Given the description of an element on the screen output the (x, y) to click on. 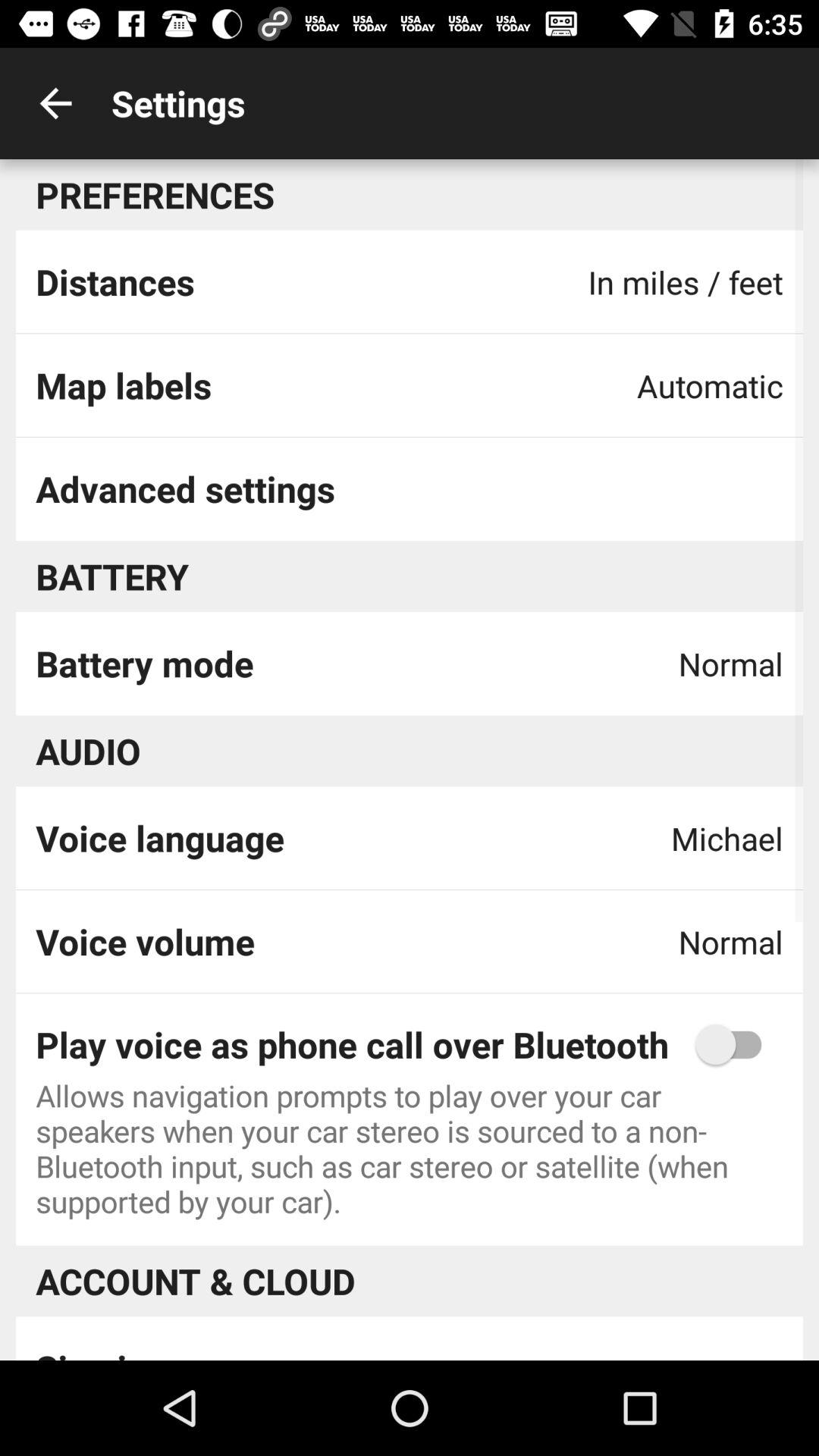
open icon above advanced settings item (123, 385)
